Given the description of an element on the screen output the (x, y) to click on. 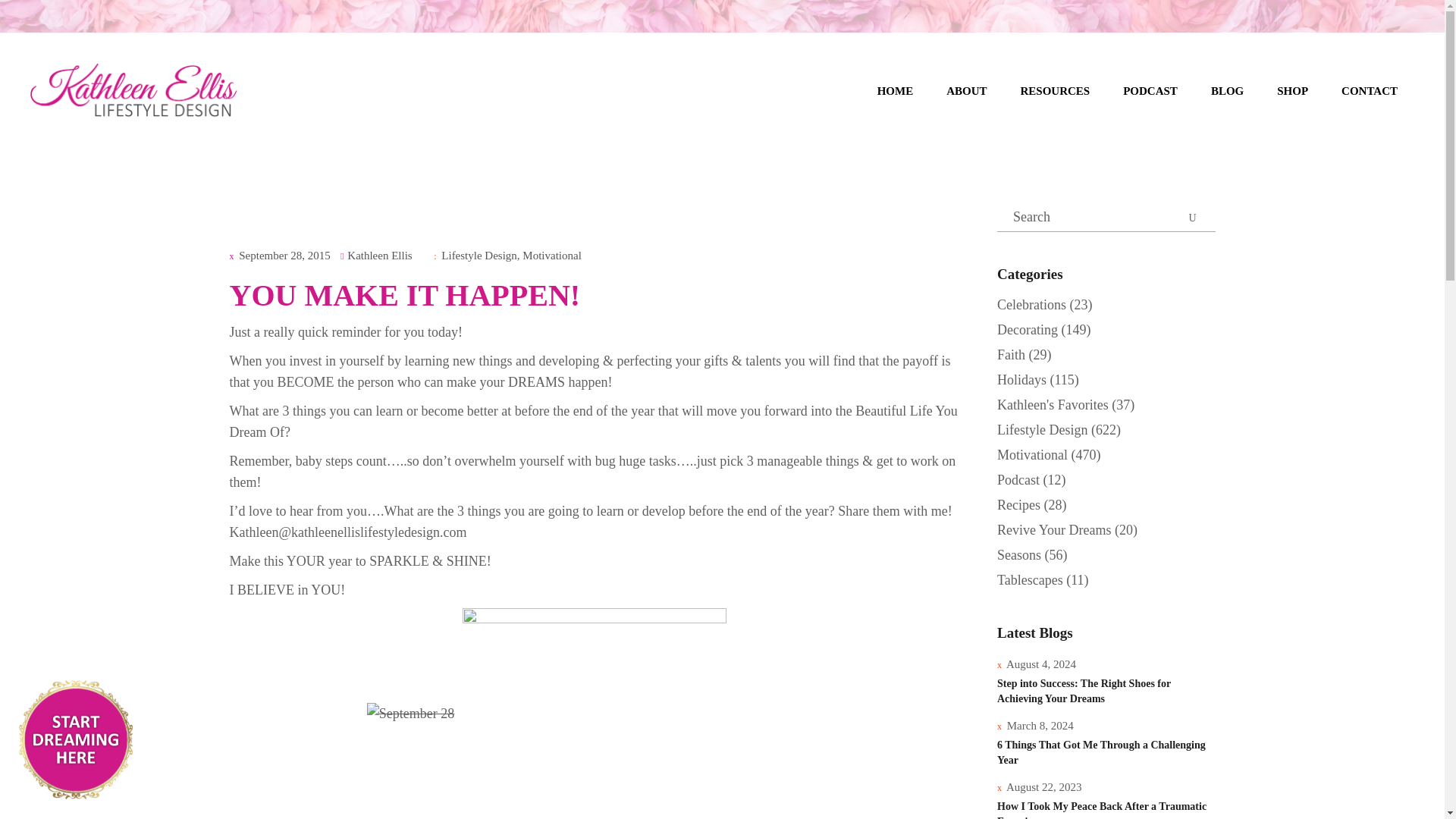
Lifestyle Design (478, 255)
RESOURCES (1055, 90)
SHOP (1292, 90)
How I Took My Peace Back After a Traumatic Experience (1102, 809)
BLOG (1226, 90)
HOME (895, 90)
PODCAST (1149, 90)
Motivational (551, 255)
6 Things That Got Me Through a Challenging Year (1101, 752)
Search for: (1106, 217)
